Given the description of an element on the screen output the (x, y) to click on. 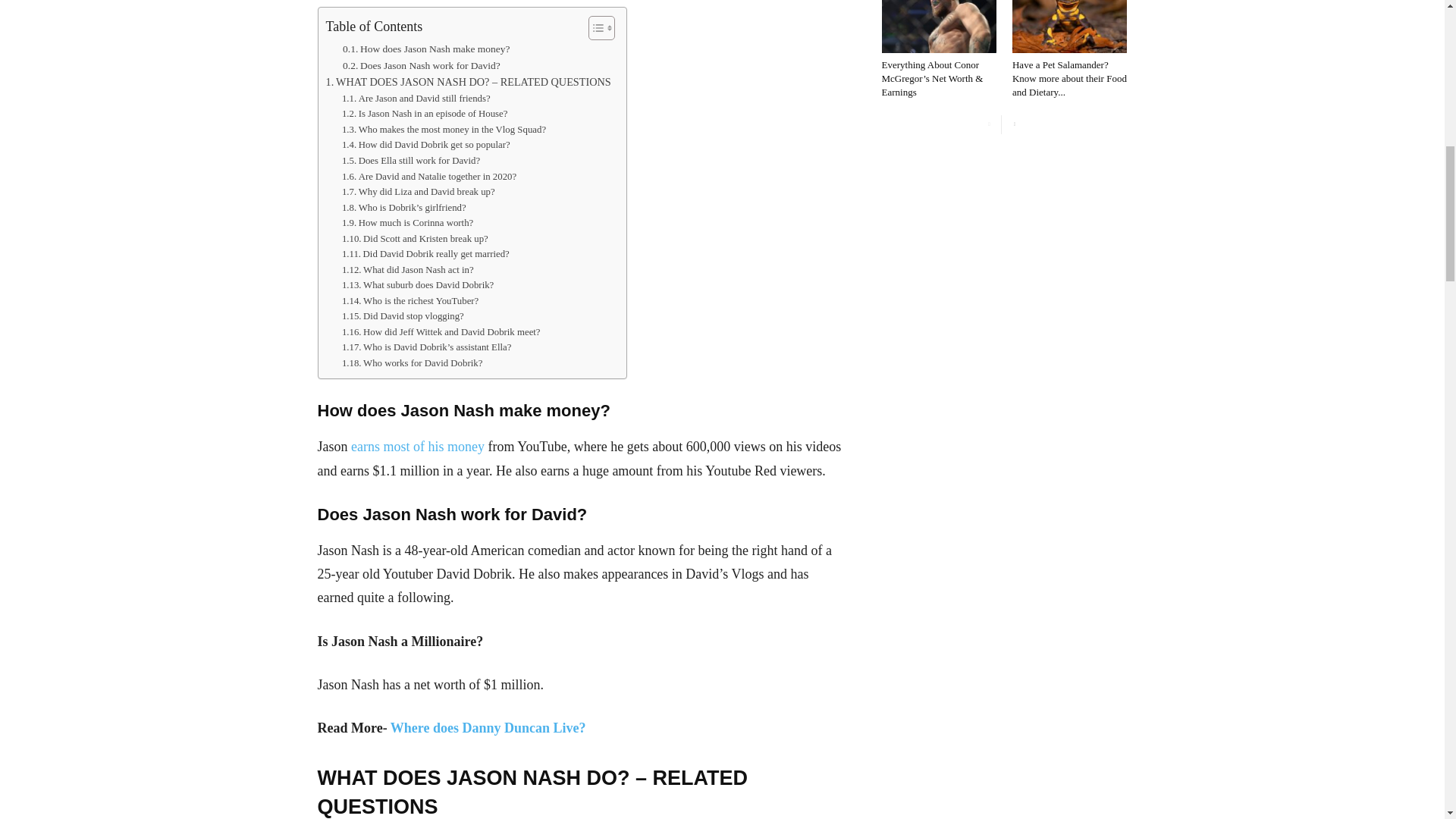
Are Jason and David still friends? (416, 98)
How does Jason Nash make money? (426, 48)
Is Jason Nash in an episode of House? (425, 114)
